Given the description of an element on the screen output the (x, y) to click on. 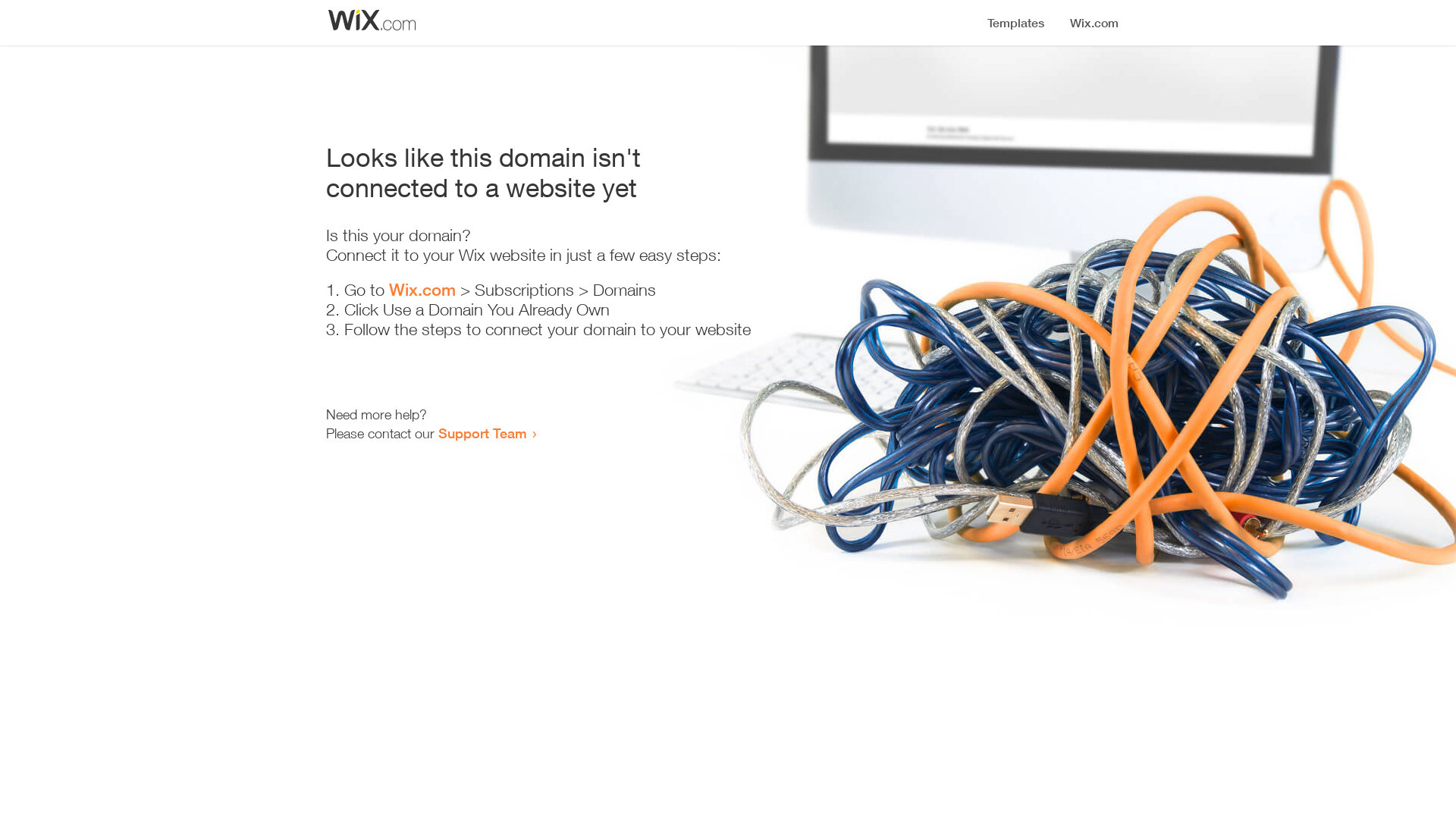
Support Team Element type: text (482, 432)
Wix.com Element type: text (422, 289)
